Given the description of an element on the screen output the (x, y) to click on. 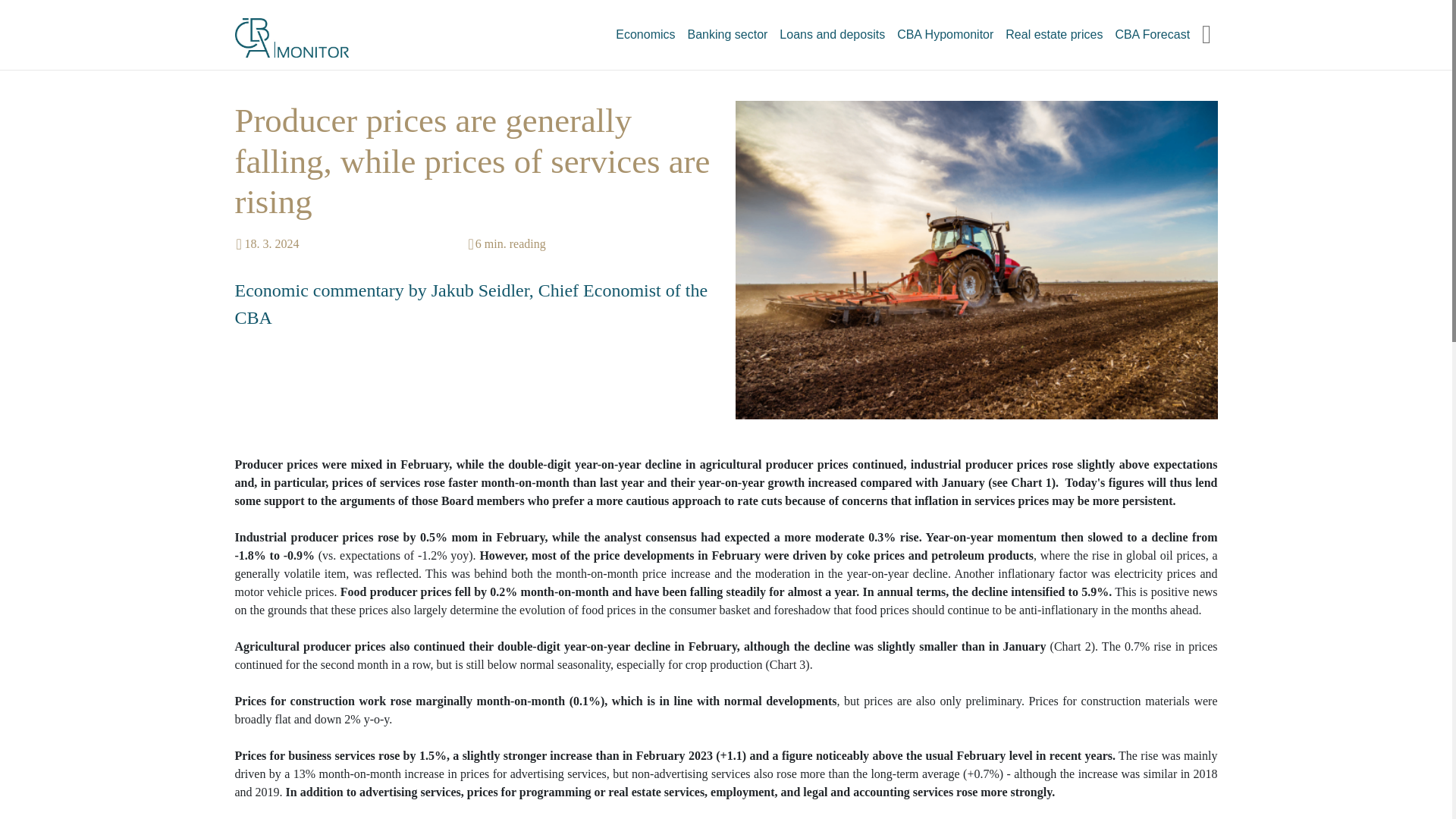
Real estate prices (1053, 34)
Banking sector (727, 34)
CBA Forecast (1151, 34)
Economics (645, 34)
CBA Hypomonitor (944, 34)
Loans and deposits (832, 34)
